Given the description of an element on the screen output the (x, y) to click on. 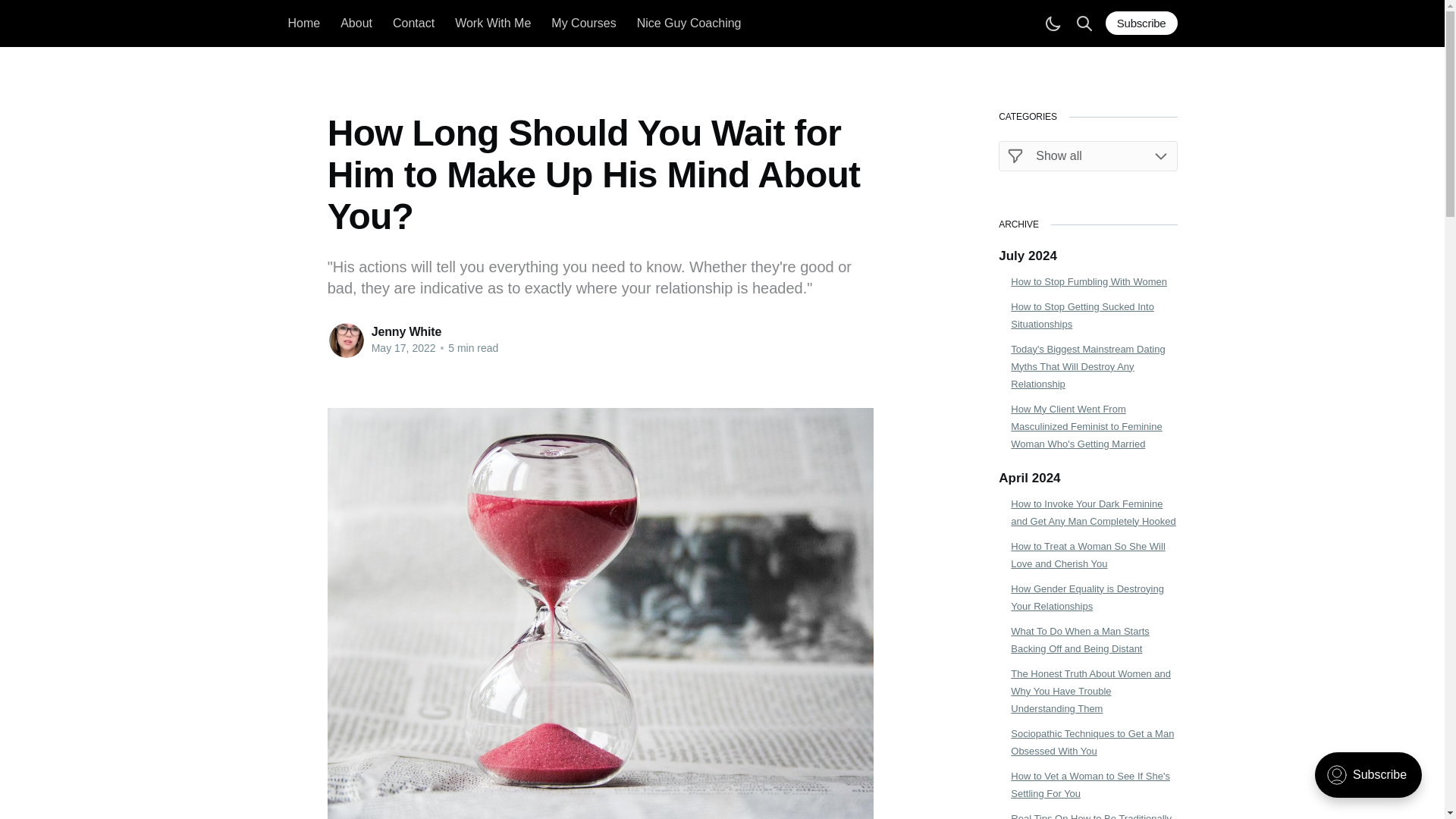
How to Stop Fumbling With Women (1093, 281)
Work With Me (492, 22)
Real Tips On How to Be Traditionally Feminine (1093, 814)
Nice Guy Coaching (689, 22)
Contact (413, 22)
How Gender Equality is Destroying Your Relationships (1093, 597)
How to Treat a Woman So She Will Love and Cherish You (1093, 554)
About (356, 22)
Sociopathic Techniques to Get a Man Obsessed With You (1093, 742)
Jenny White (406, 331)
How to Vet a Woman to See If She's Settling For You (1093, 784)
